Given the description of an element on the screen output the (x, y) to click on. 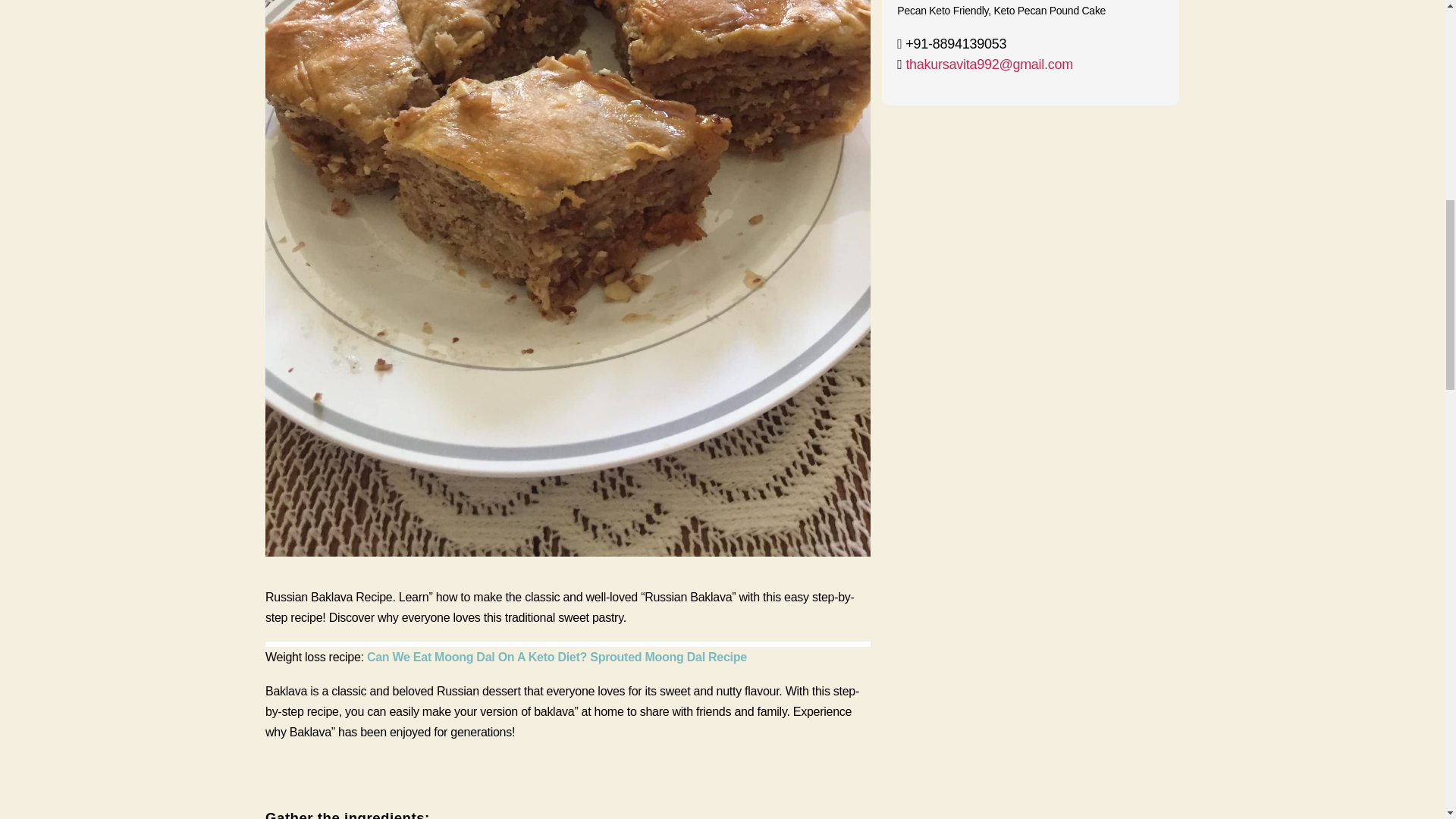
Pecan Keto Friendly, Keto Pecan Pound Cake (1000, 10)
